Given the description of an element on the screen output the (x, y) to click on. 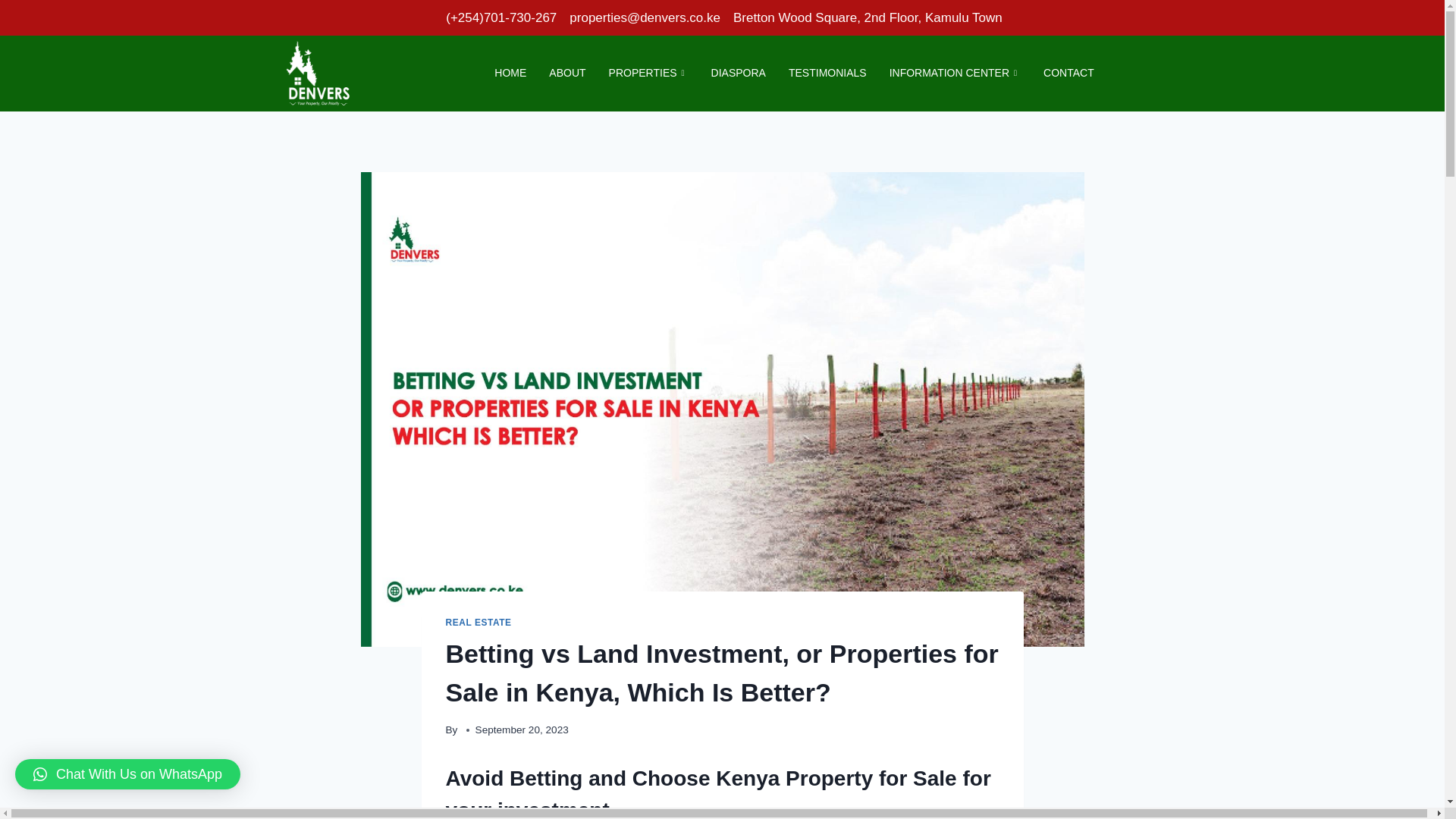
INFORMATION CENTER (954, 72)
TESTIMONIALS (827, 72)
REAL ESTATE (478, 622)
PROPERTIES (648, 72)
